Given the description of an element on the screen output the (x, y) to click on. 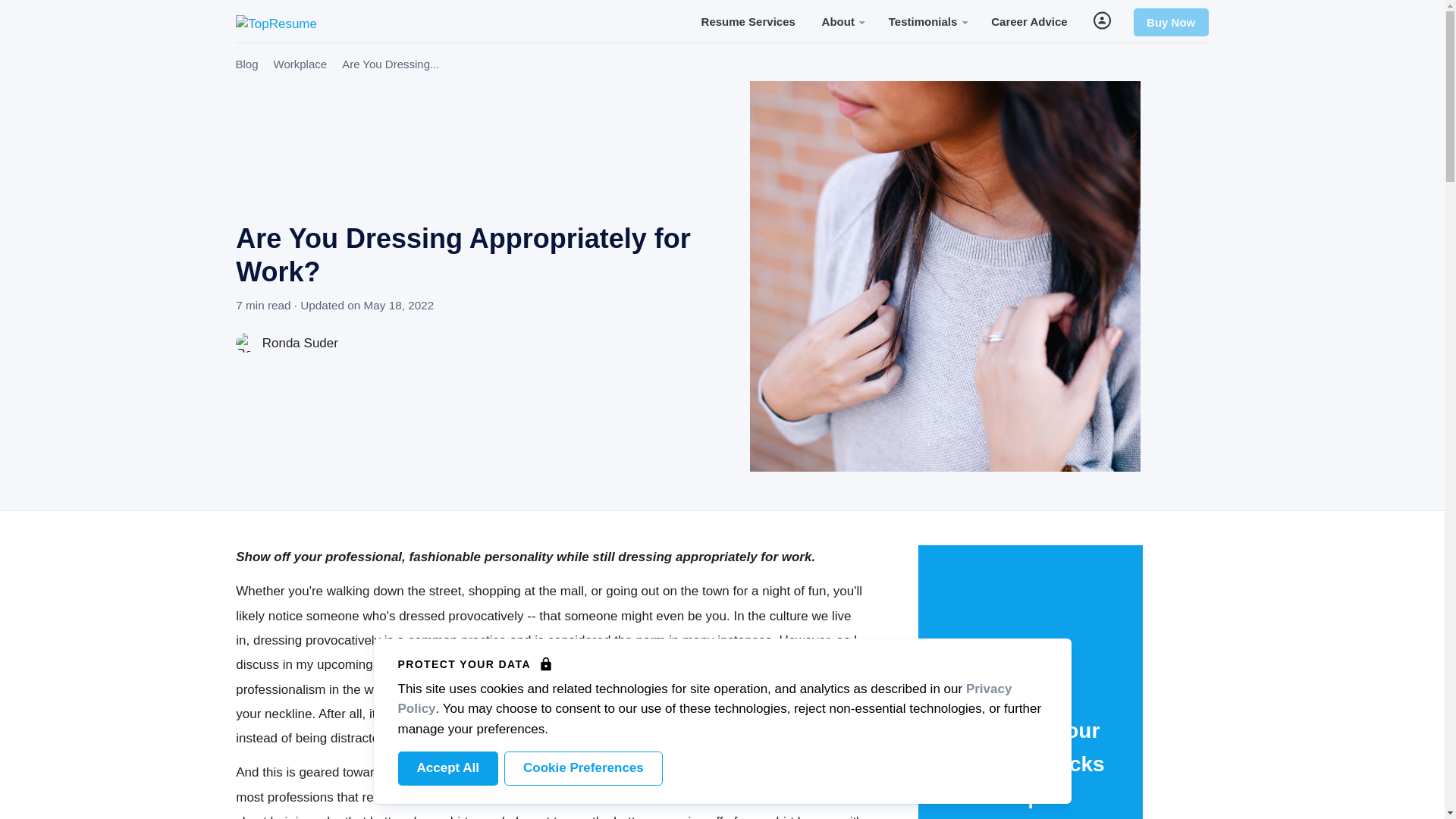
Accept All (447, 768)
Cookie Preferences (582, 768)
Resume Services (748, 20)
Career Advice (1028, 20)
Buy Now (1171, 22)
Privacy Policy (704, 698)
Workplace (300, 63)
Ronda Suder (286, 342)
Blog (245, 63)
About (841, 20)
Testimonials (926, 20)
